Given the description of an element on the screen output the (x, y) to click on. 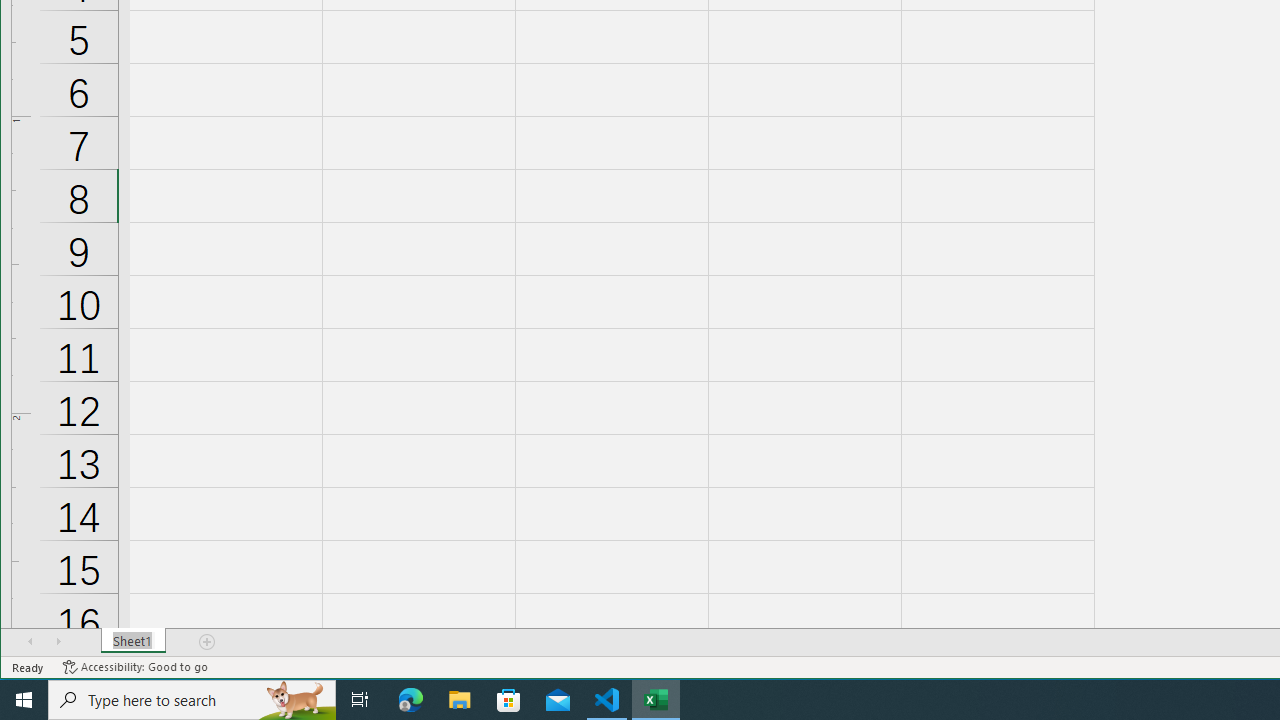
Search highlights icon opens search home window (295, 699)
